Given the description of an element on the screen output the (x, y) to click on. 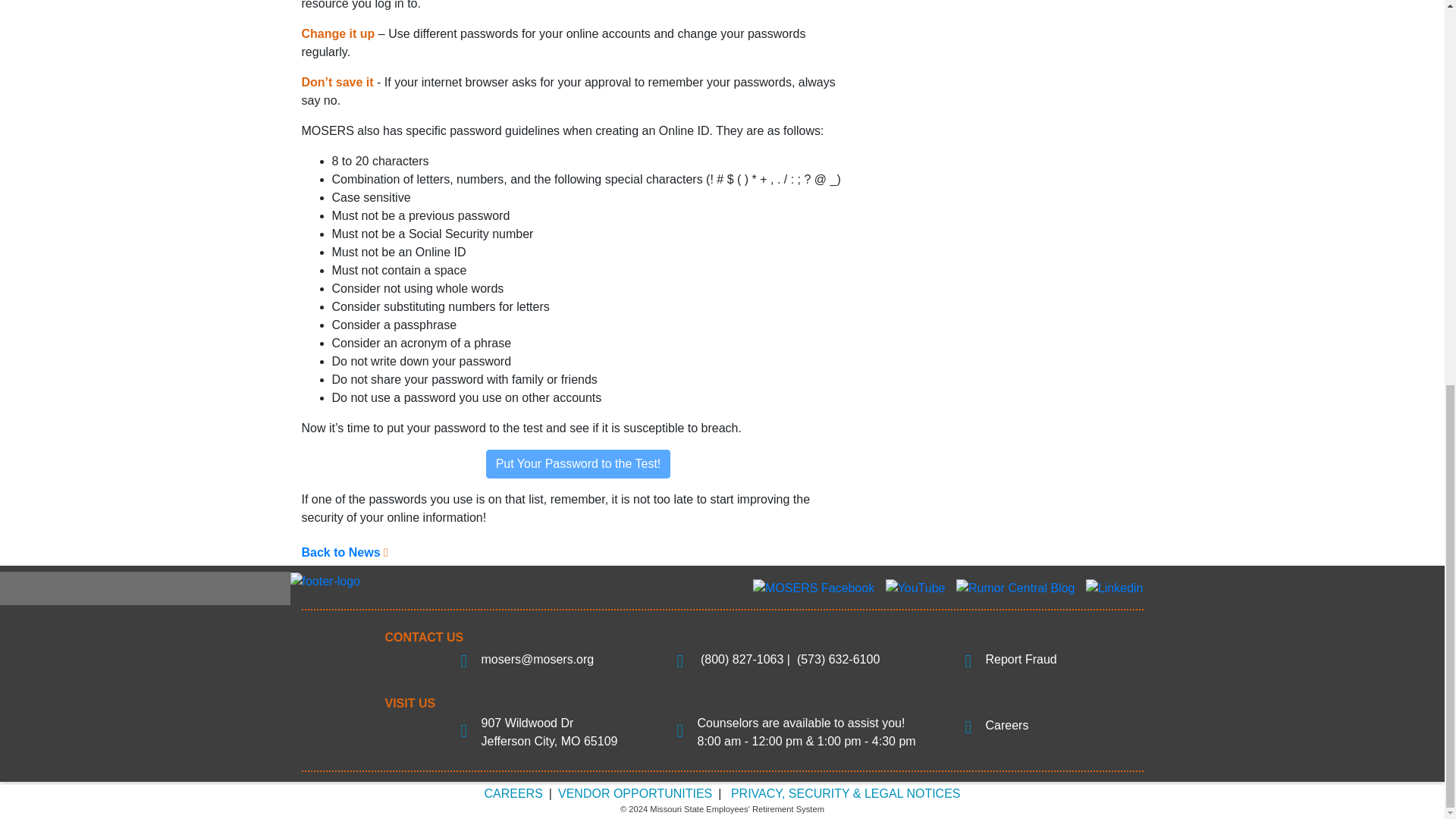
footer-logo (324, 580)
MOSERS You-Tube (914, 588)
footer-logo (324, 581)
MOSERS Linkedin (1114, 588)
MOSERS Facebook (813, 588)
Rumor Central Blog (1015, 588)
